Given the description of an element on the screen output the (x, y) to click on. 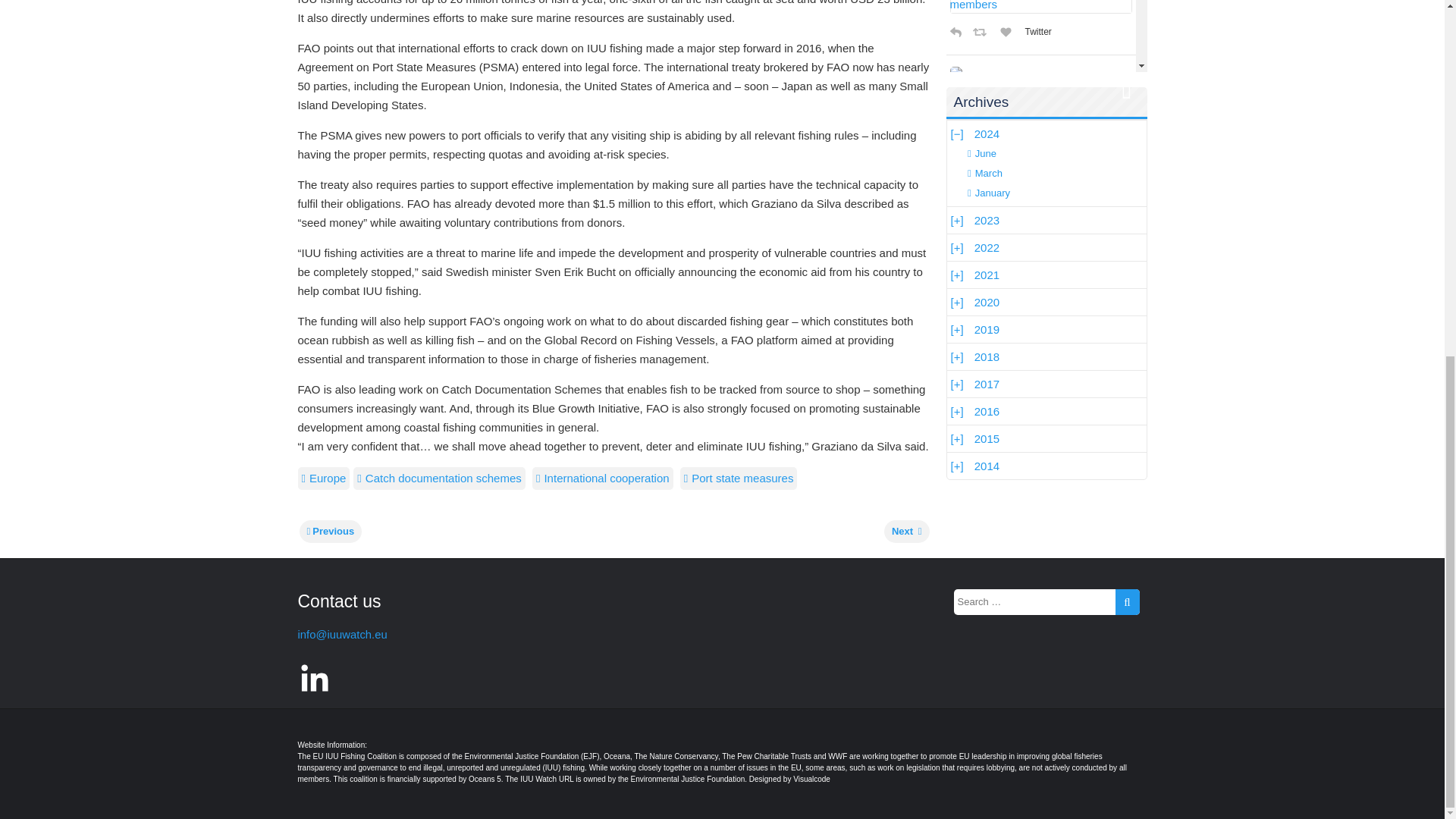
Catch documentation schemes (438, 477)
International cooperation (602, 477)
Retweet on Twitter (982, 32)
Next (906, 531)
Search for: (1046, 601)
Previous (329, 531)
Port state measures (738, 477)
Europe (323, 477)
Reply on Twitter (957, 32)
